Given the description of an element on the screen output the (x, y) to click on. 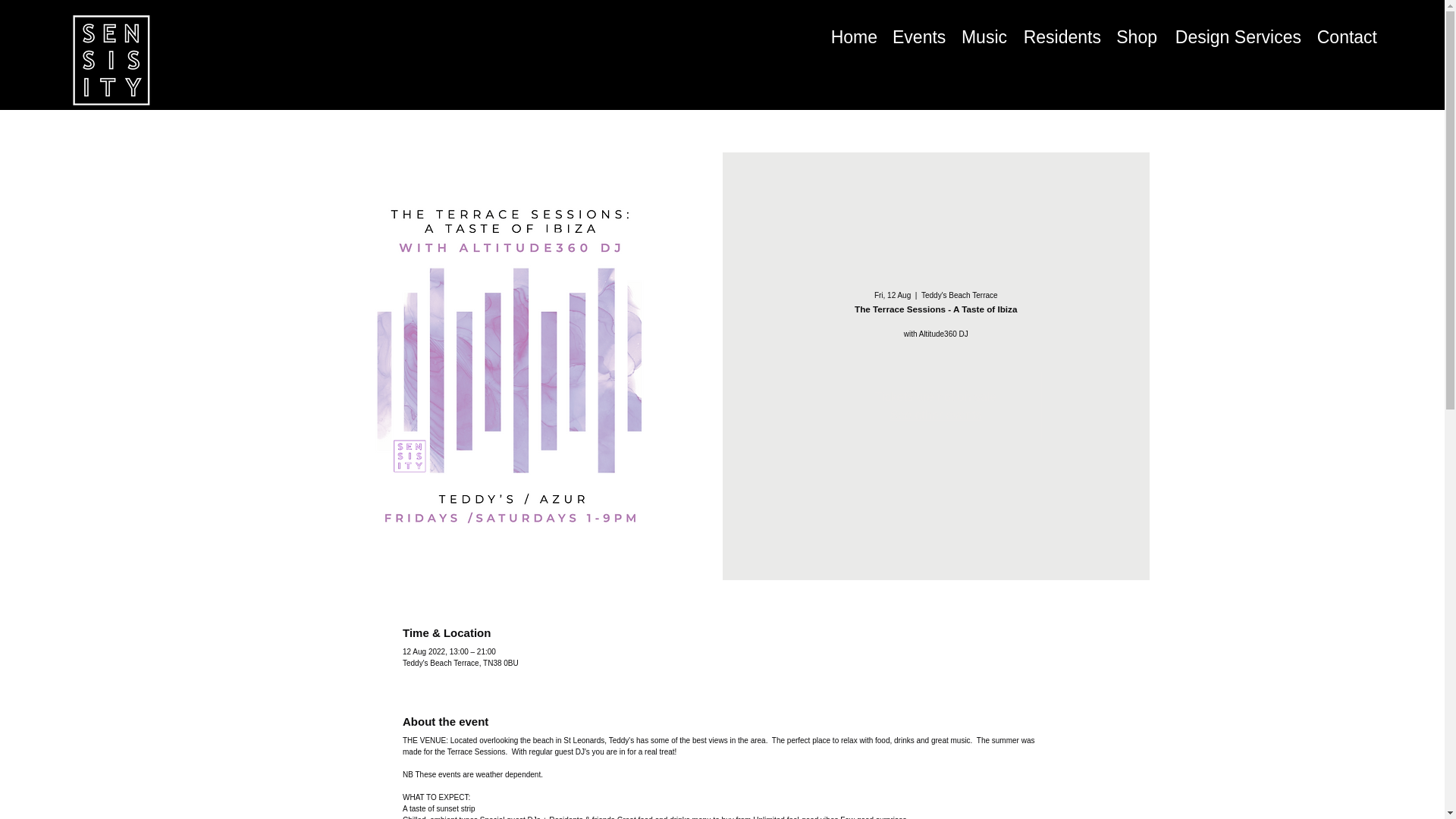
Events (919, 37)
Design Services (1236, 37)
Music (983, 37)
Contact (1346, 37)
Residents (1061, 37)
Home (853, 37)
See other events (935, 414)
